Given the description of an element on the screen output the (x, y) to click on. 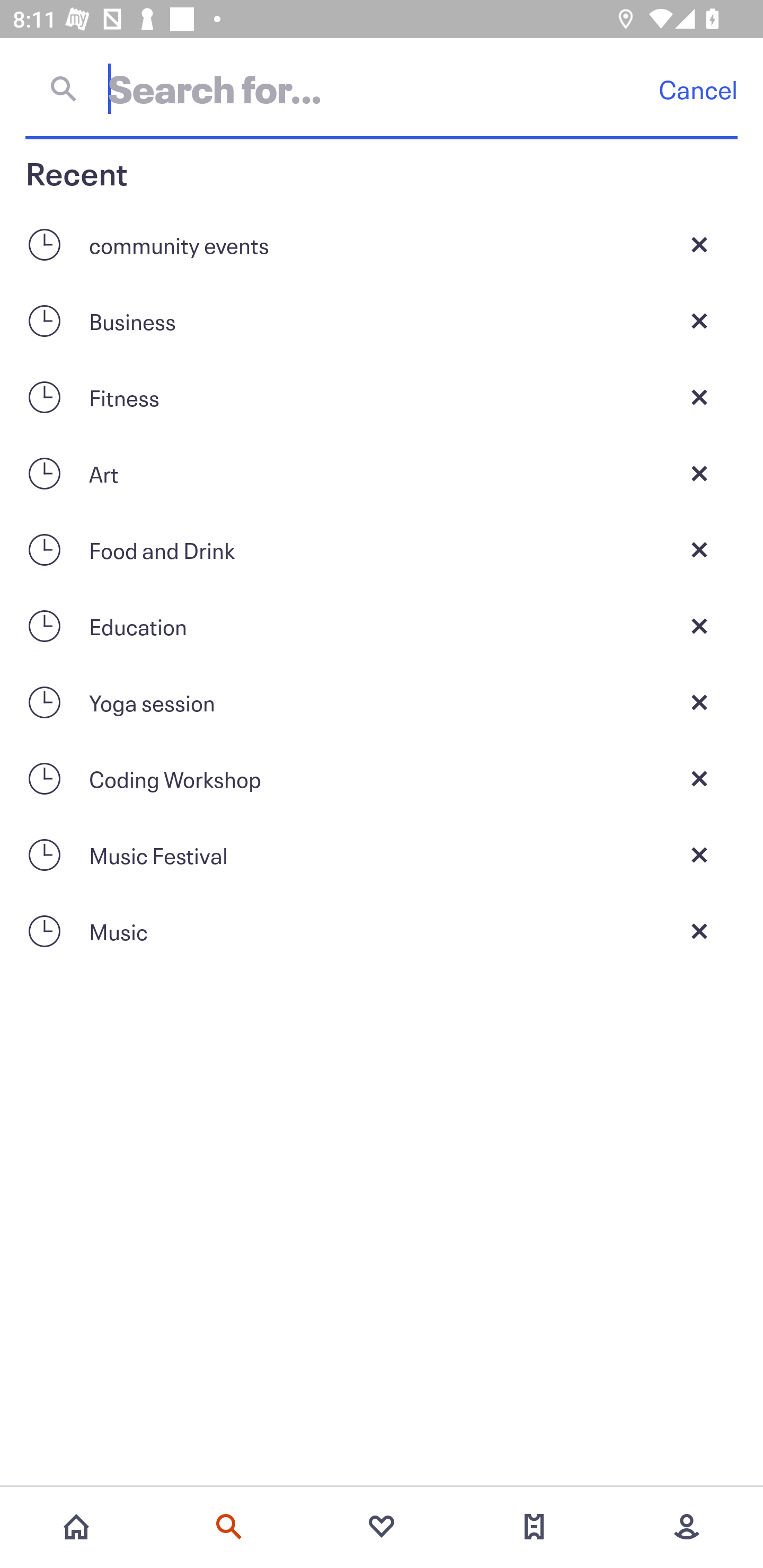
Cancel Search for… (381, 88)
Cancel (697, 89)
community events Close current screen (381, 244)
Close current screen (699, 244)
Business Close current screen (381, 320)
Close current screen (699, 320)
Fitness Close current screen (381, 397)
Close current screen (699, 397)
Art Close current screen (381, 473)
Close current screen (699, 473)
Food and Drink Close current screen (381, 549)
Close current screen (699, 549)
Education Close current screen (381, 626)
Close current screen (699, 626)
Yoga session Close current screen (381, 702)
Close current screen (699, 702)
Coding Workshop Close current screen (381, 778)
Close current screen (699, 778)
Music Festival Close current screen (381, 854)
Close current screen (699, 854)
Music Close current screen (381, 931)
Close current screen (699, 931)
Home (76, 1526)
Search events (228, 1526)
Favorites (381, 1526)
Tickets (533, 1526)
More (686, 1526)
